Given the description of an element on the screen output the (x, y) to click on. 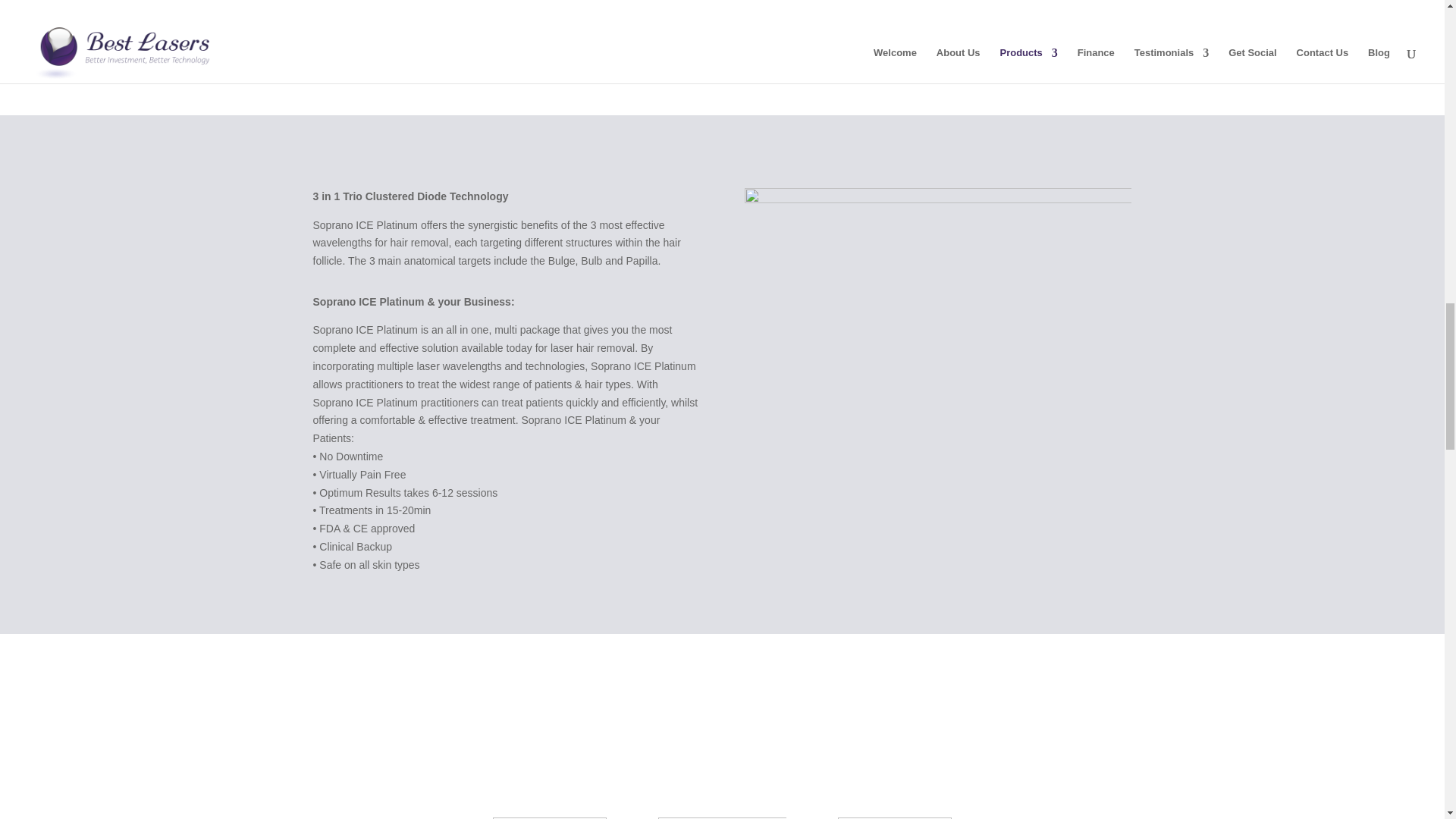
What-does-this-mean-for-your-business-600x400 (937, 316)
Alma-200x69 (722, 818)
